Given the description of an element on the screen output the (x, y) to click on. 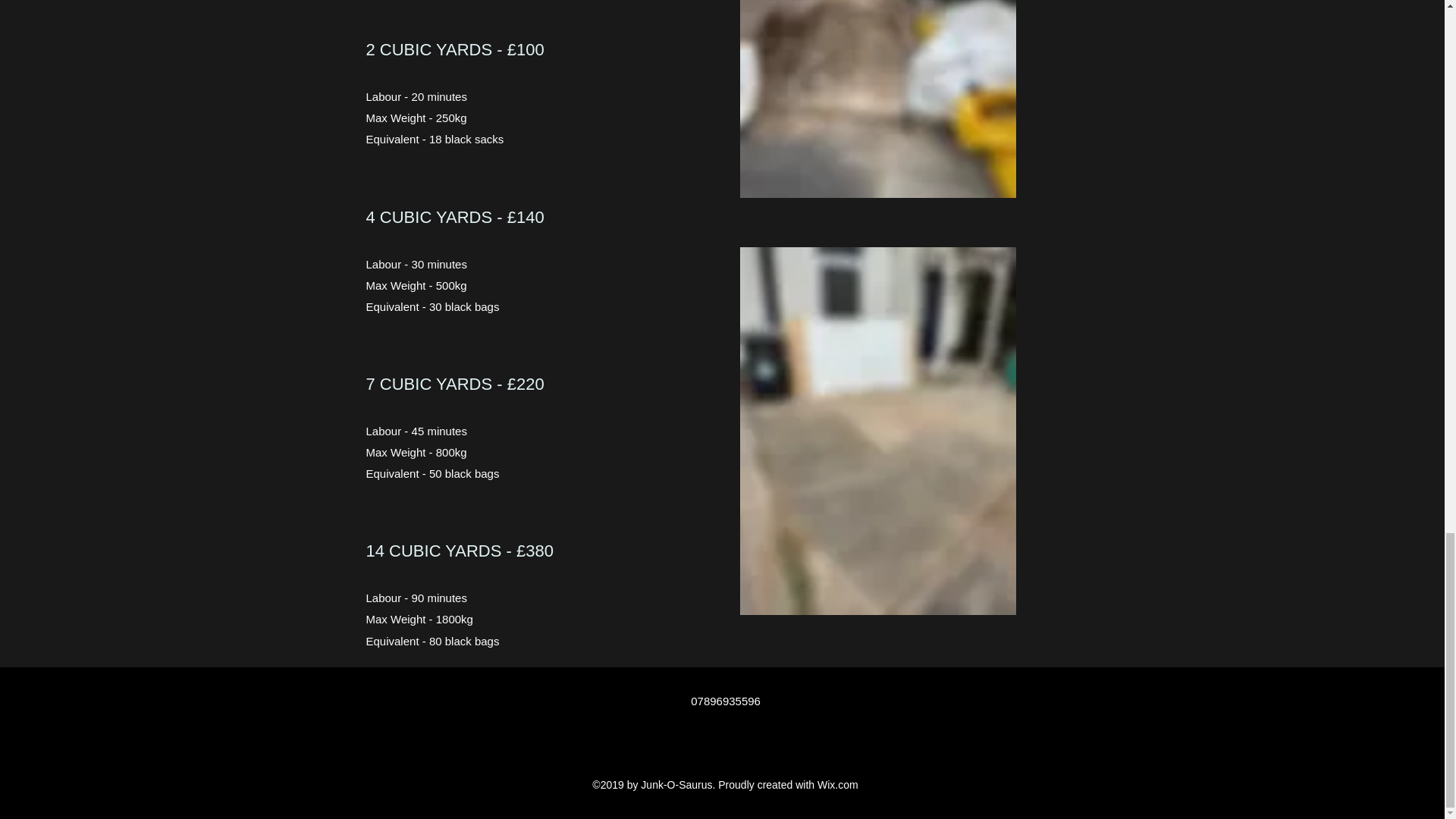
builders waste (877, 99)
